Given the description of an element on the screen output the (x, y) to click on. 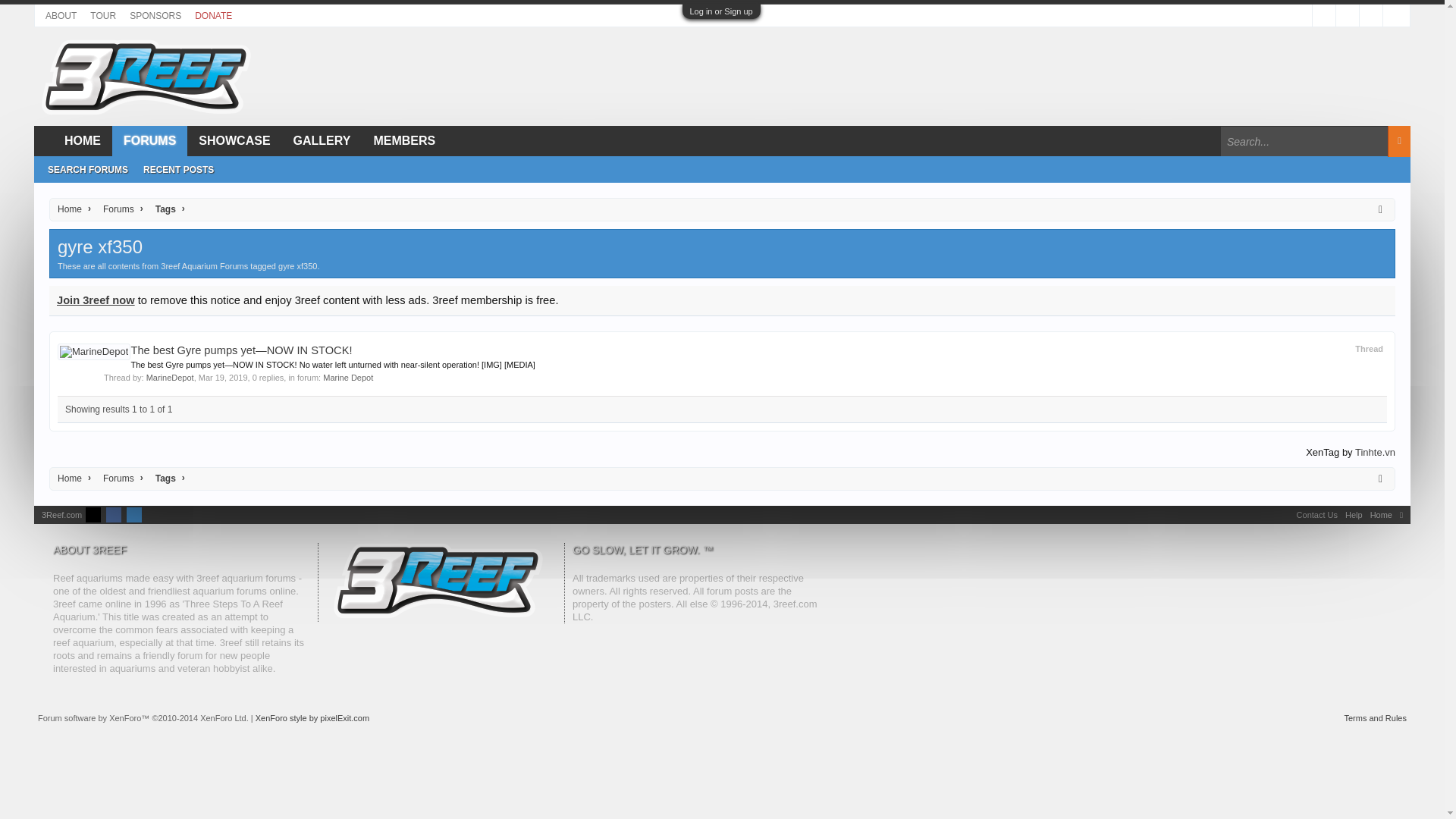
Home (68, 478)
Join 3reef now (95, 300)
Tinhte.vn (1374, 451)
Forums (114, 209)
Forums (114, 478)
MarineDepot (170, 377)
SPONSORS (154, 15)
Marine Depot (347, 377)
RECENT POSTS (178, 170)
Tags (162, 478)
